Given the description of an element on the screen output the (x, y) to click on. 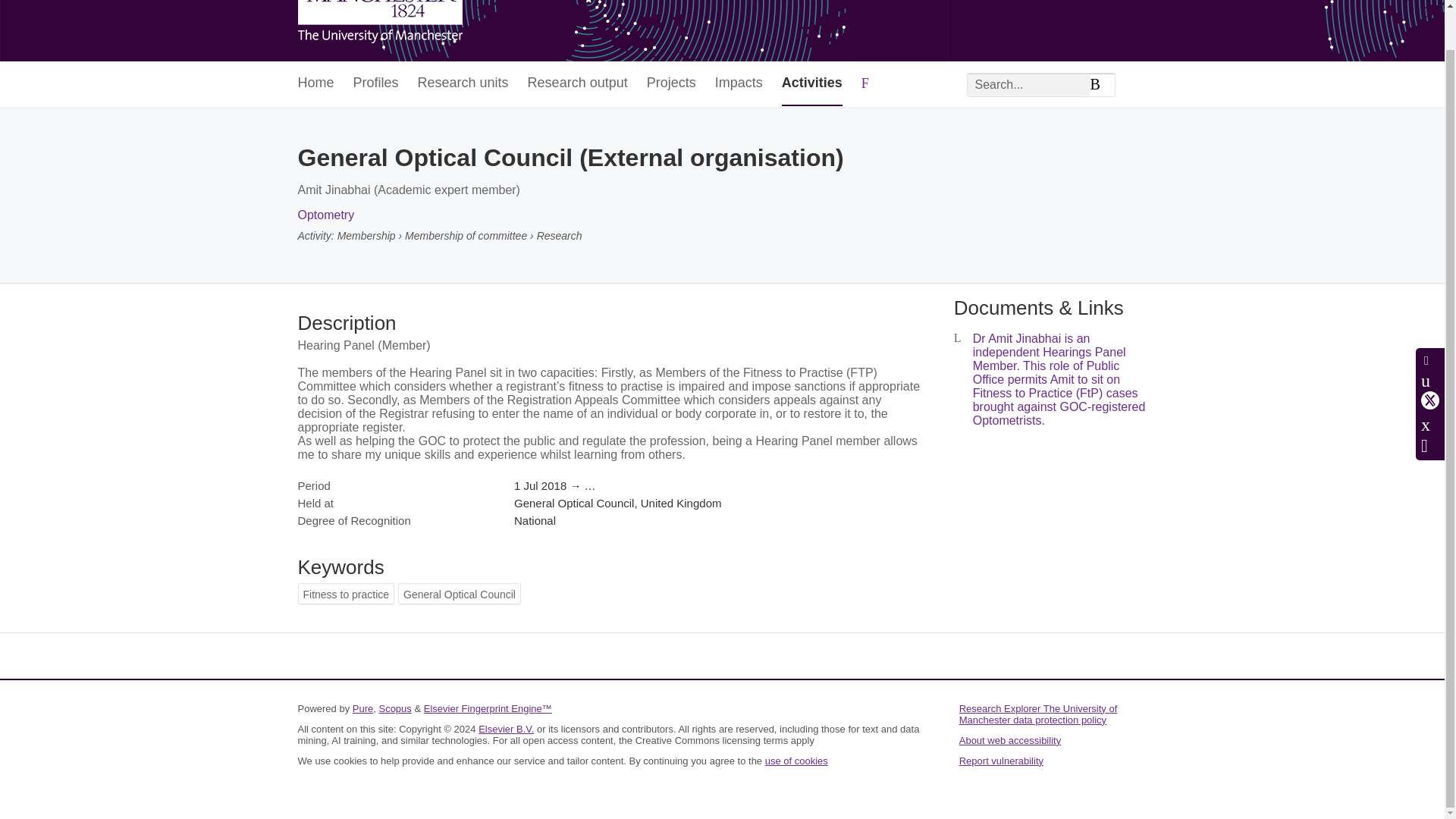
Elsevier B.V. (506, 728)
Profiles (375, 83)
X (1430, 358)
use of cookies (796, 760)
Research Explorer The University of Manchester Home (379, 22)
About web accessibility (1010, 740)
Scopus (394, 708)
Impacts (738, 83)
Projects (670, 83)
Research units (462, 83)
Optometry (325, 214)
Report vulnerability (1001, 760)
Activities (812, 83)
Pure (362, 708)
